Given the description of an element on the screen output the (x, y) to click on. 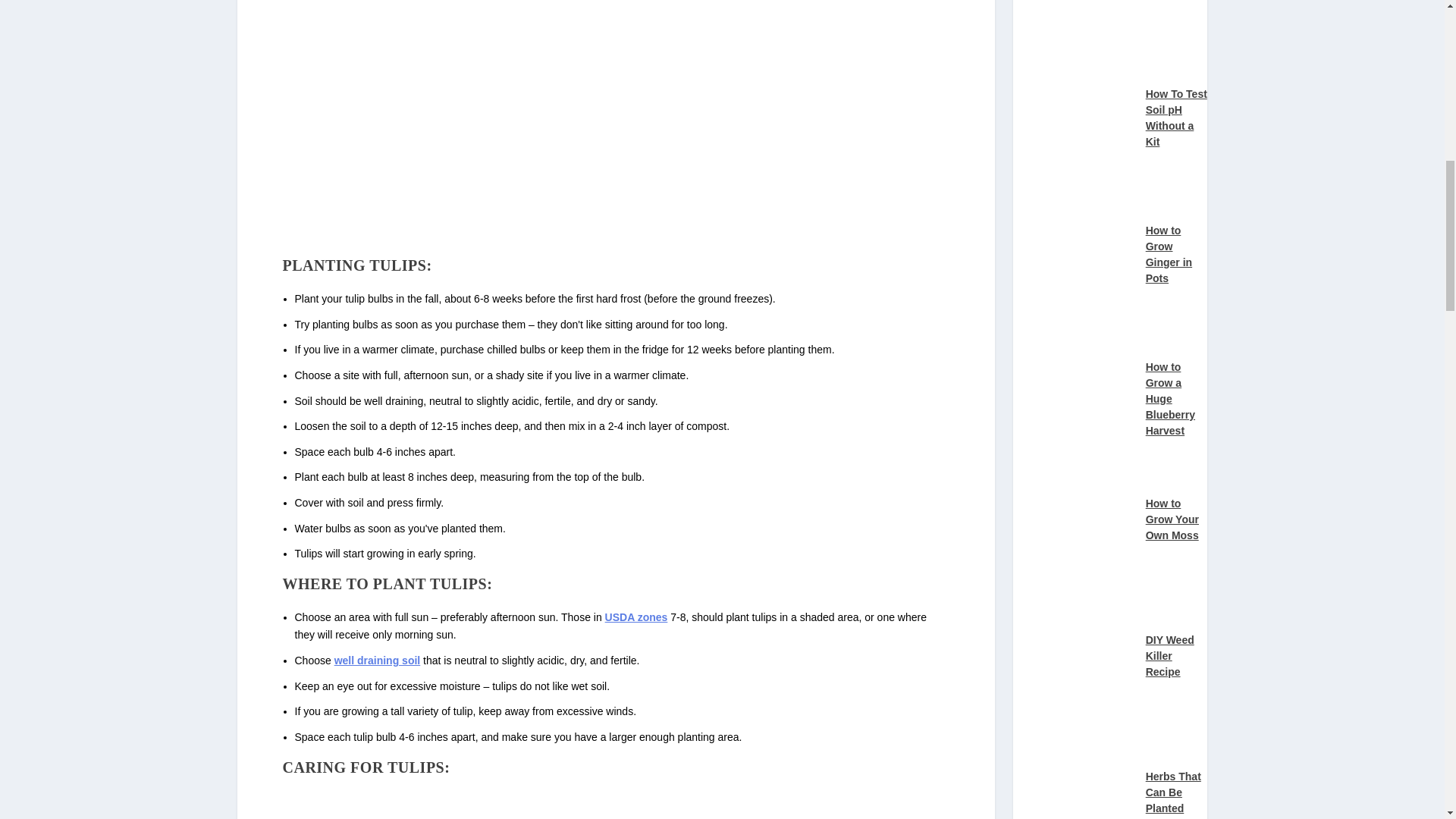
well draining soil (377, 660)
colored tulips (427, 801)
USDA zones (636, 616)
